Given the description of an element on the screen output the (x, y) to click on. 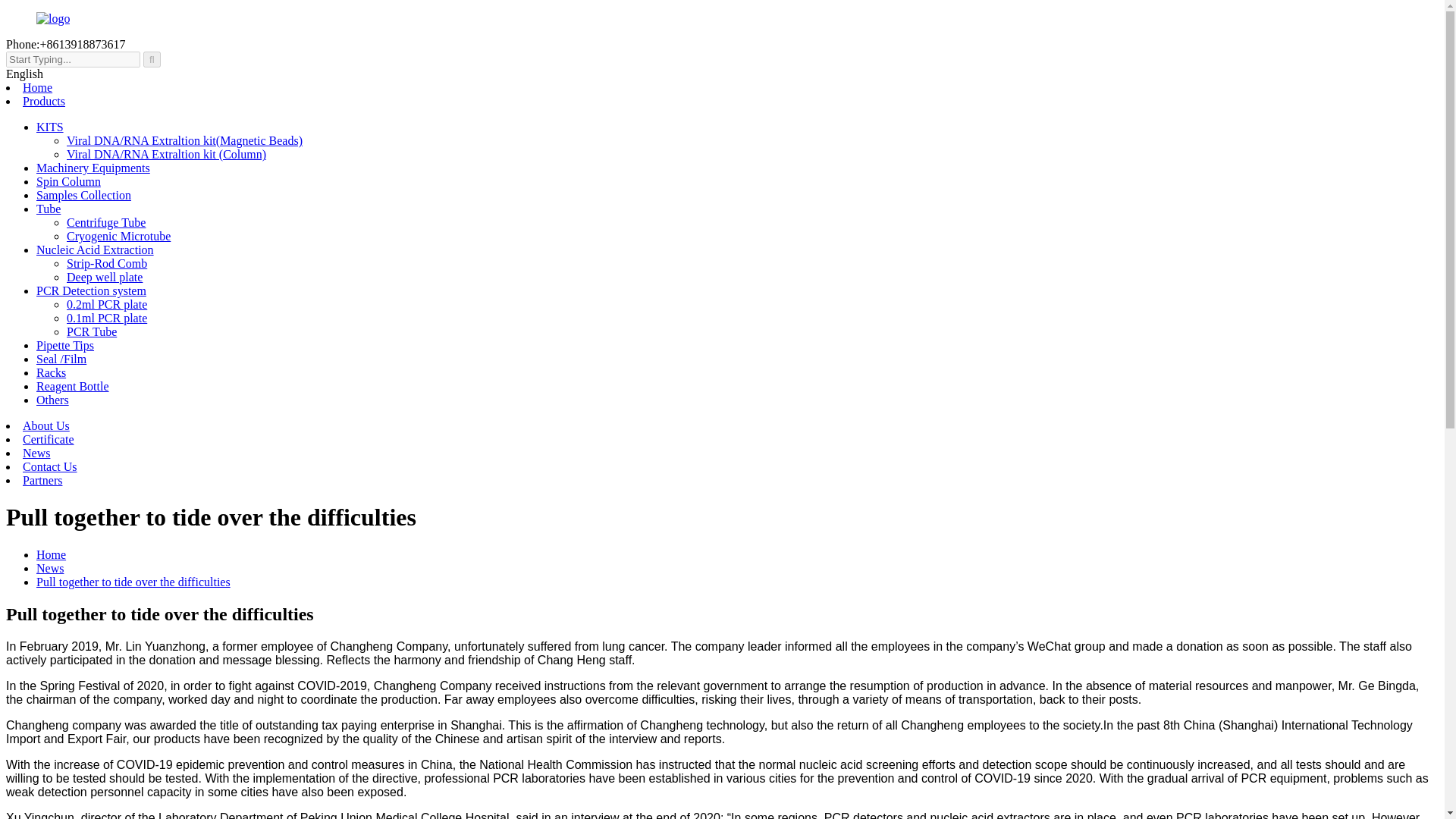
Deep well plate (104, 277)
Contact Us (50, 466)
KITS (50, 126)
Centrifuge Tube (105, 222)
Samples Collection (83, 195)
Cryogenic Microtube (118, 236)
Certificate (48, 439)
Machinery Equipments (92, 167)
Spin Column (68, 181)
About Us (46, 425)
Home (37, 87)
News (50, 567)
Racks (50, 372)
Home (50, 554)
Reagent Bottle (72, 386)
